Given the description of an element on the screen output the (x, y) to click on. 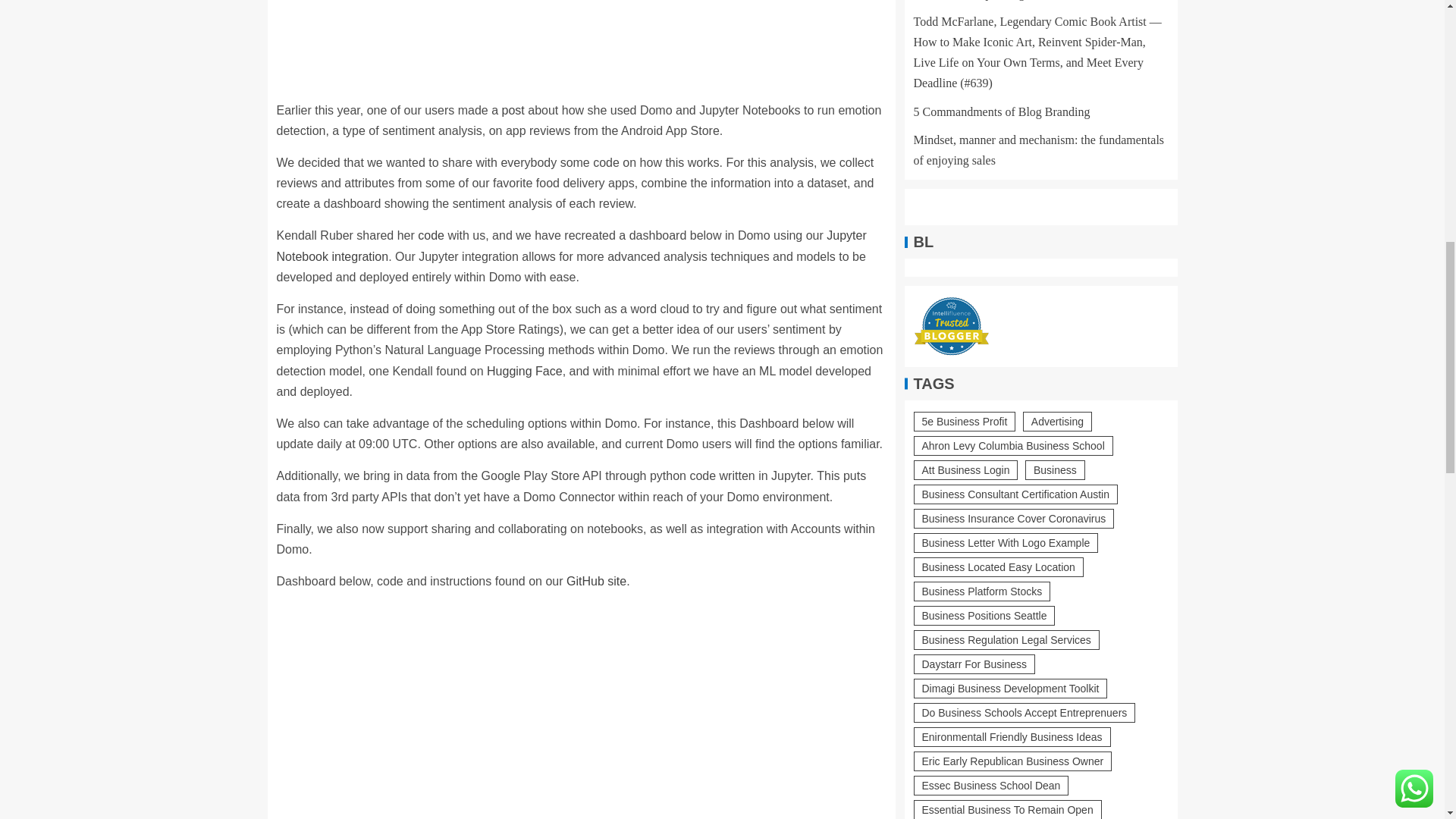
code (430, 235)
GitHub site (596, 581)
Hugging Face (524, 370)
post (513, 110)
Jupyter Notebook integration (571, 245)
